Given the description of an element on the screen output the (x, y) to click on. 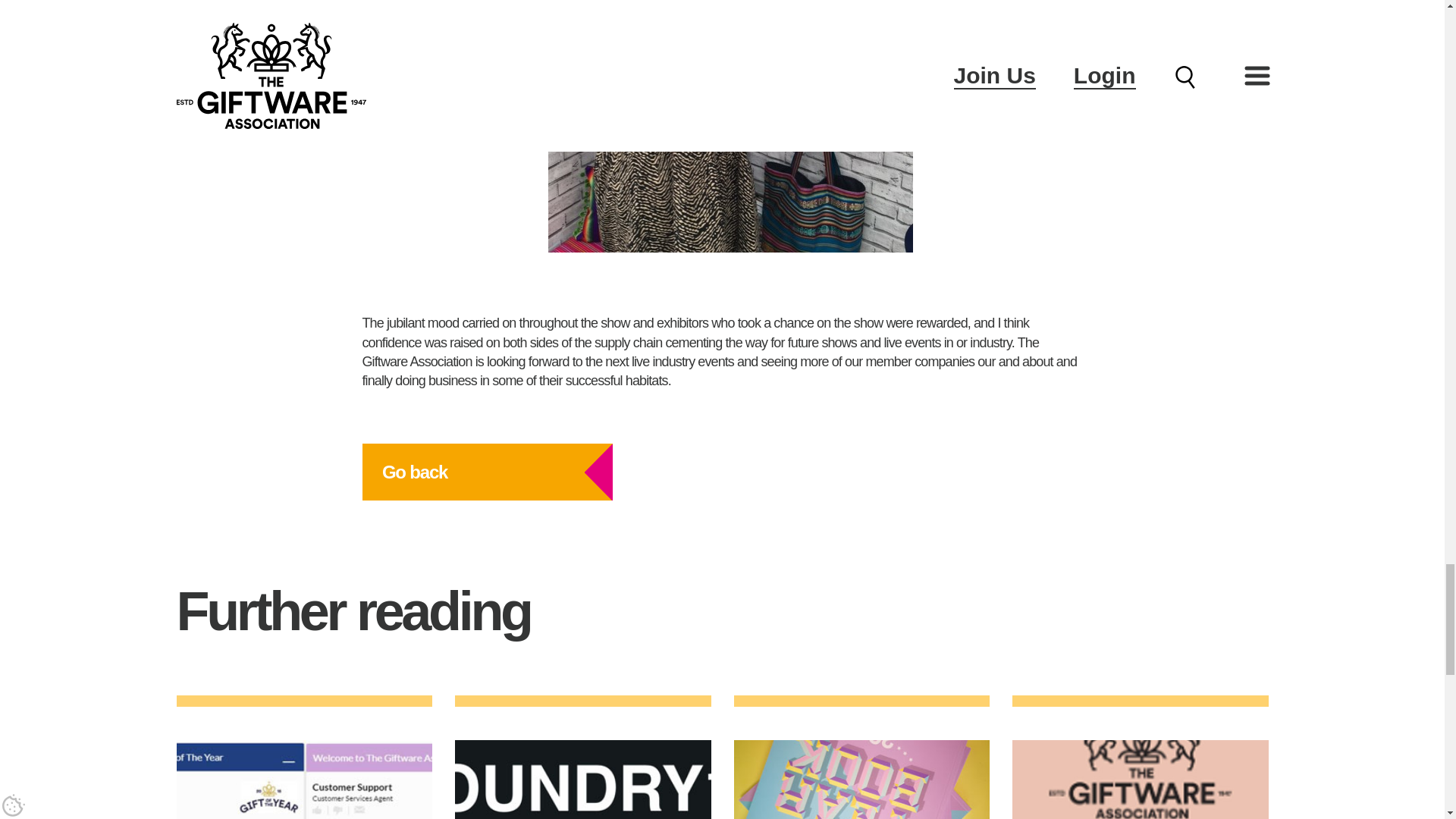
Go back (487, 471)
